Given the description of an element on the screen output the (x, y) to click on. 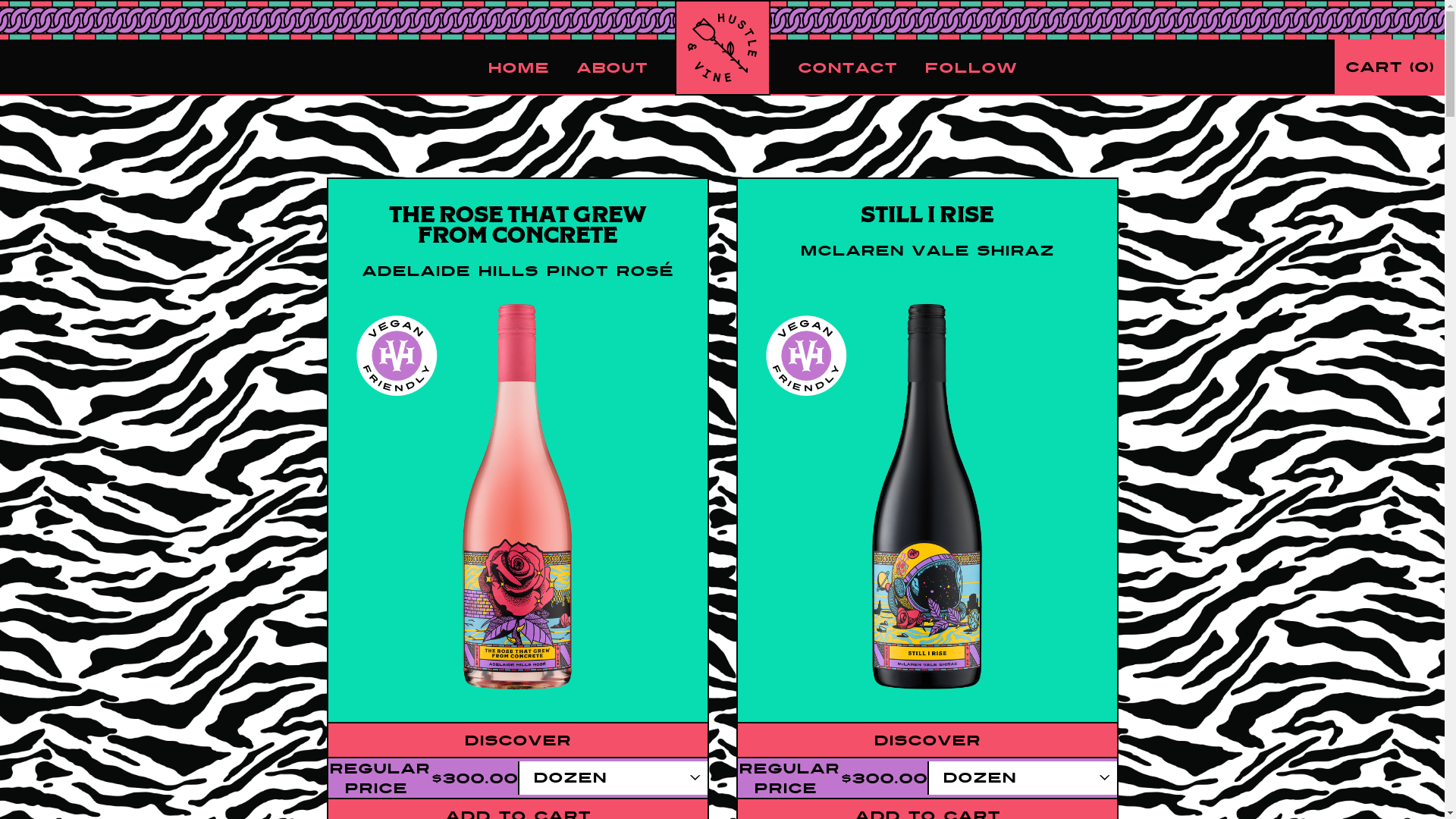
0
CART Element type: text (1389, 66)
ABOUT Element type: text (625, 67)
CONTACT Element type: text (833, 67)
FOLLOW Element type: text (956, 67)
HOME Element type: text (530, 67)
